Given the description of an element on the screen output the (x, y) to click on. 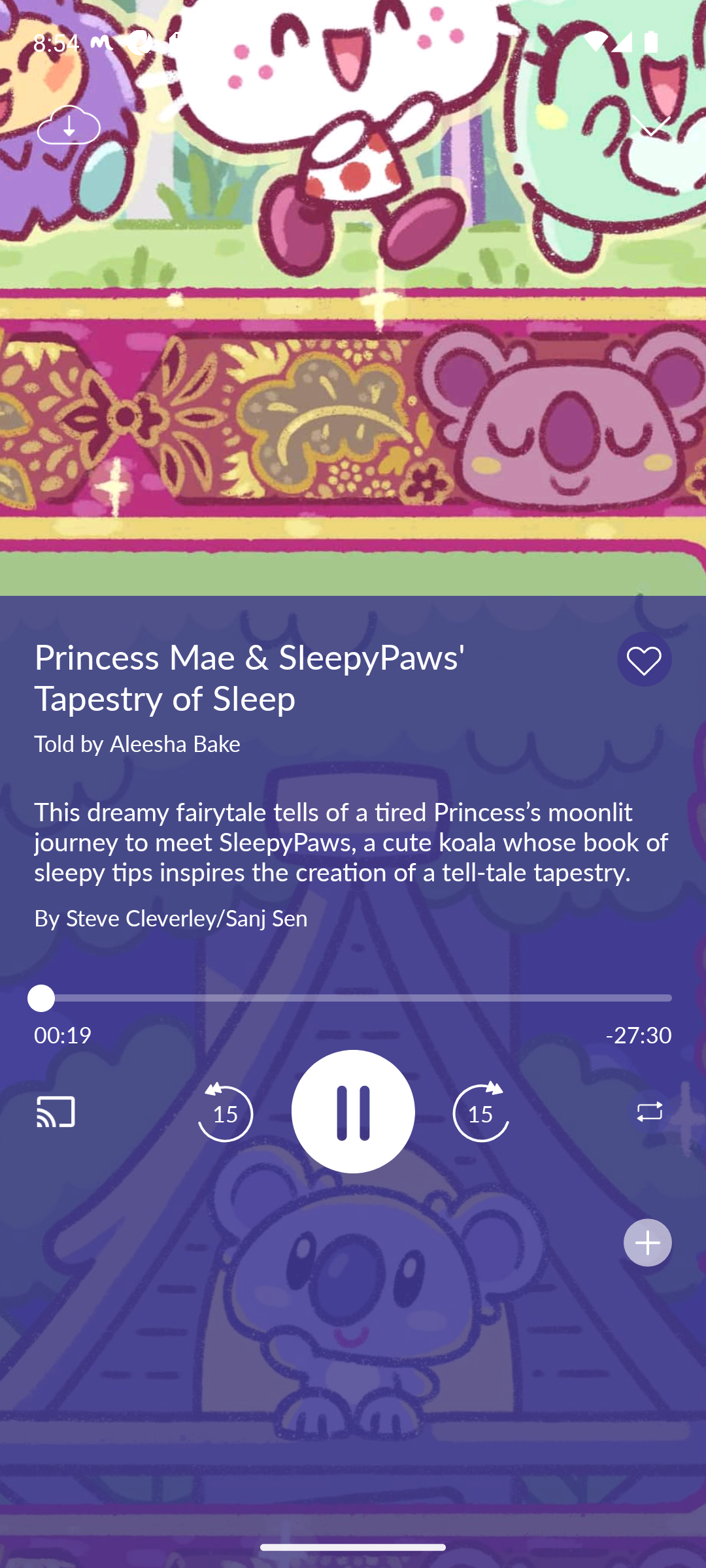
19.0 (352, 997)
Cast. Disconnected (76, 1111)
